Given the description of an element on the screen output the (x, y) to click on. 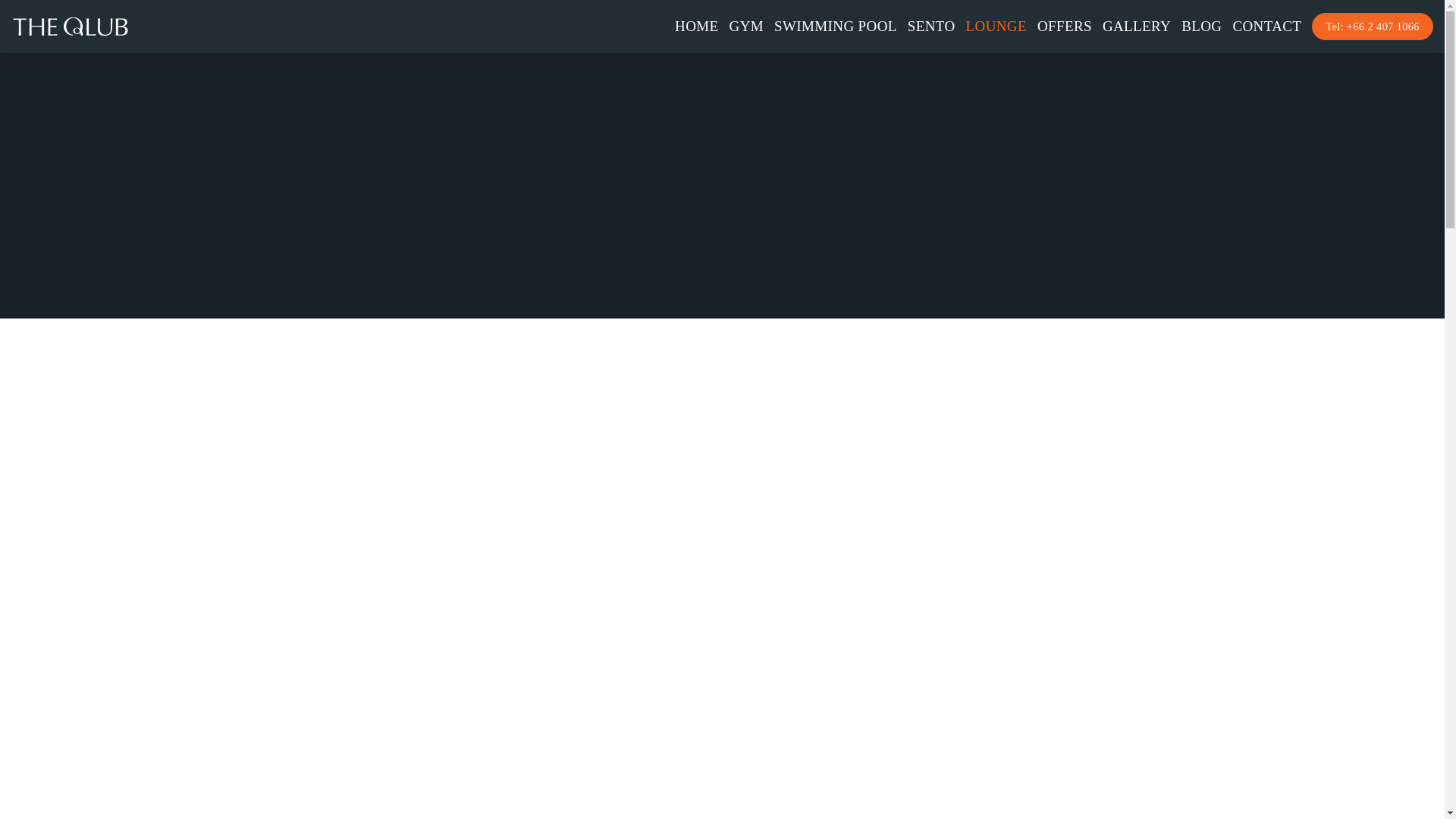
CONTACT (1266, 26)
theqlubwellness (70, 26)
GALLERY (1136, 26)
SENTO (931, 26)
OFFERS (1064, 26)
HOME (696, 26)
LOUNGE (996, 26)
BLOG (1200, 26)
SWIMMING POOL (835, 26)
